Given the description of an element on the screen output the (x, y) to click on. 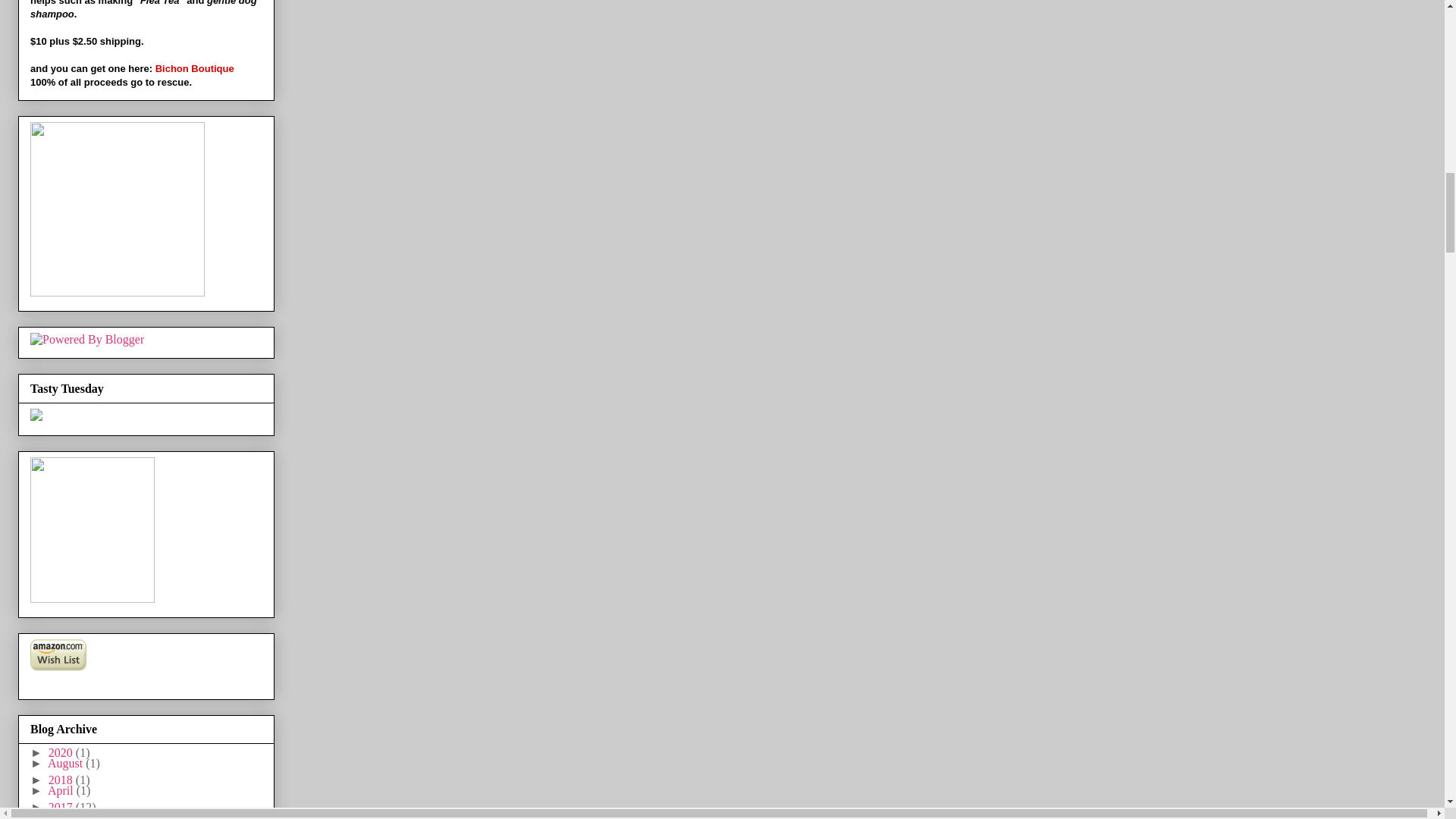
Bichon Boutique (194, 68)
2020 (61, 752)
